Given the description of an element on the screen output the (x, y) to click on. 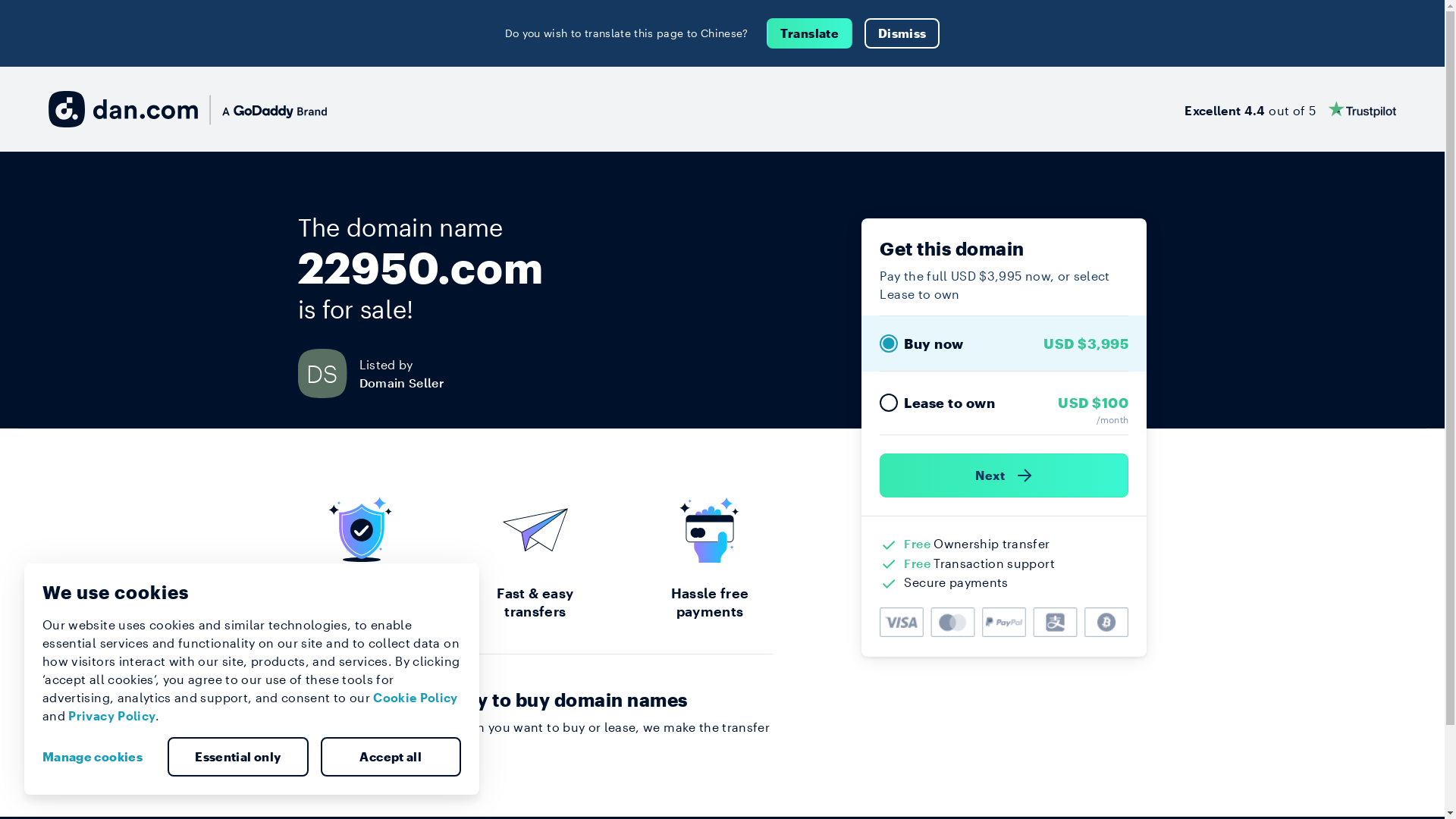
Manage cookies Element type: text (98, 756)
Essential only Element type: text (237, 756)
Accept all Element type: text (390, 756)
Next
) Element type: text (1003, 475)
Dismiss Element type: text (901, 33)
Excellent 4.4 out of 5 Element type: text (1290, 109)
Cookie Policy Element type: text (415, 697)
Privacy Policy Element type: text (111, 715)
Translate Element type: text (809, 33)
